Given the description of an element on the screen output the (x, y) to click on. 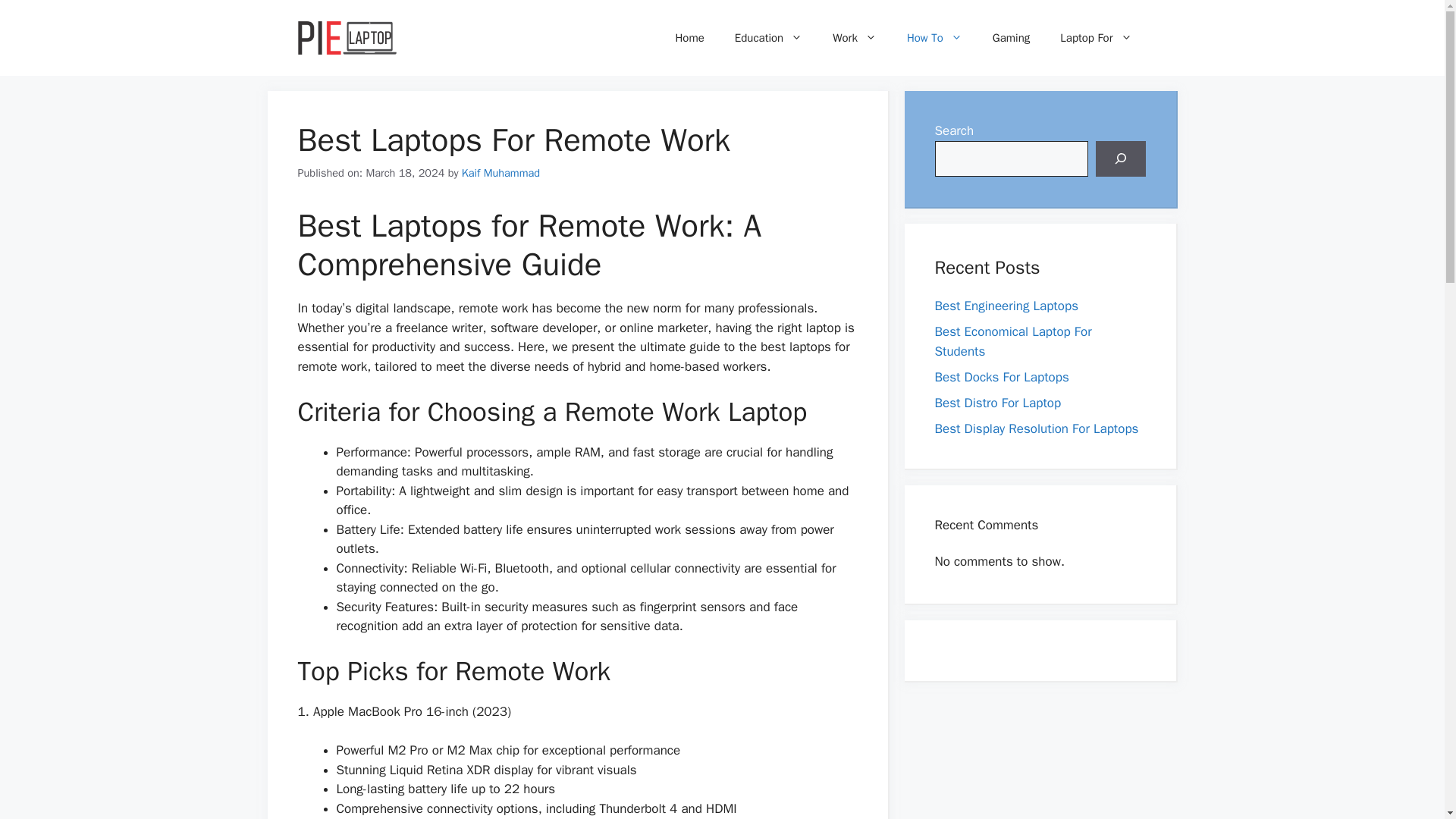
How To (933, 37)
Best Economical Laptop For Students (1012, 341)
Work (853, 37)
Best Display Resolution For Laptops (1036, 427)
Best Distro For Laptop (997, 401)
Gaming (1010, 37)
Laptop For (1096, 37)
View all posts by Kaif Muhammad (500, 172)
Best Engineering Laptops (1005, 305)
Kaif Muhammad (500, 172)
